Given the description of an element on the screen output the (x, y) to click on. 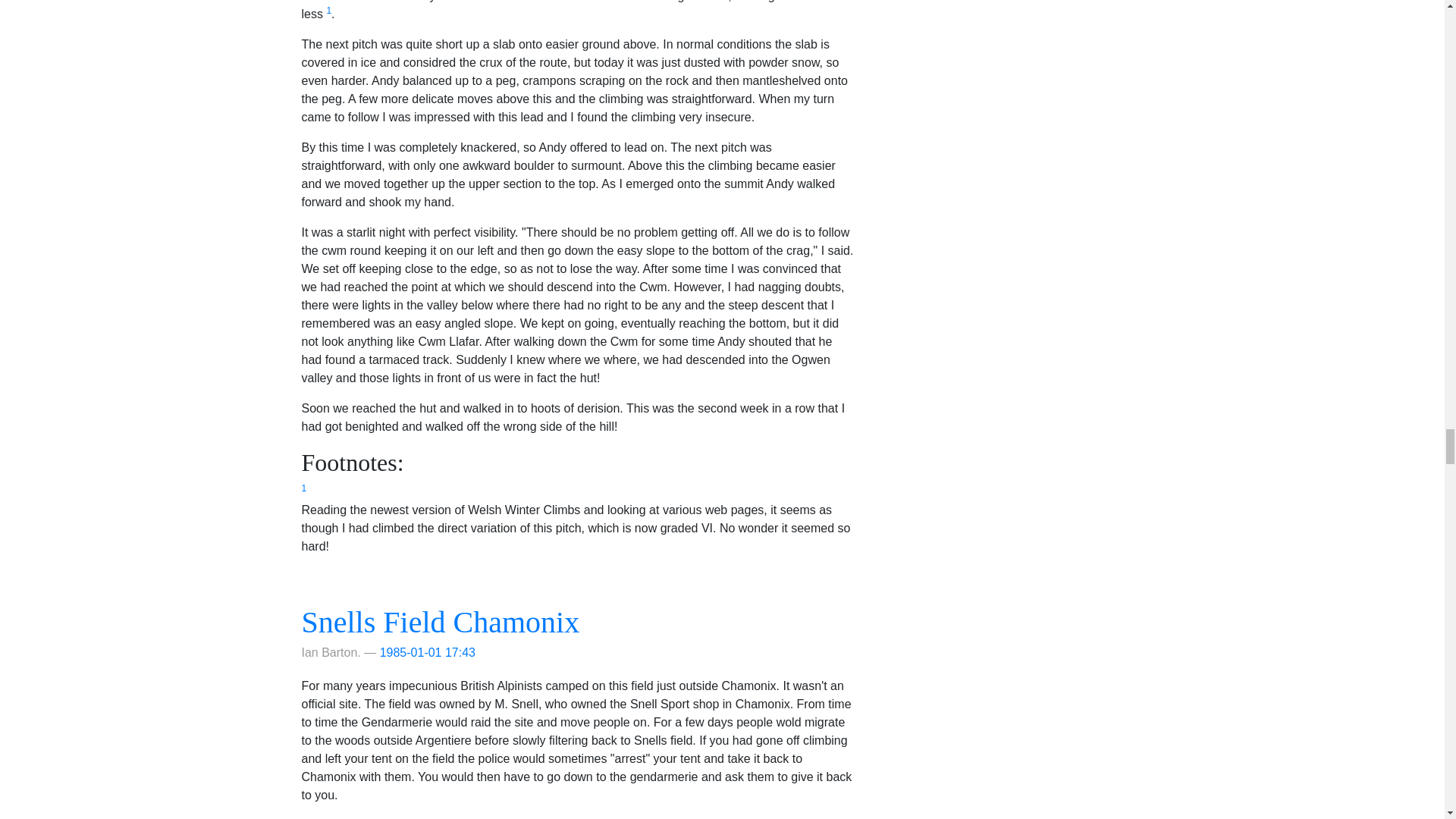
1985-01-01 17:43 (428, 652)
1985-01-01 17:43 (428, 652)
Snells Field Chamonix (440, 622)
